Given the description of an element on the screen output the (x, y) to click on. 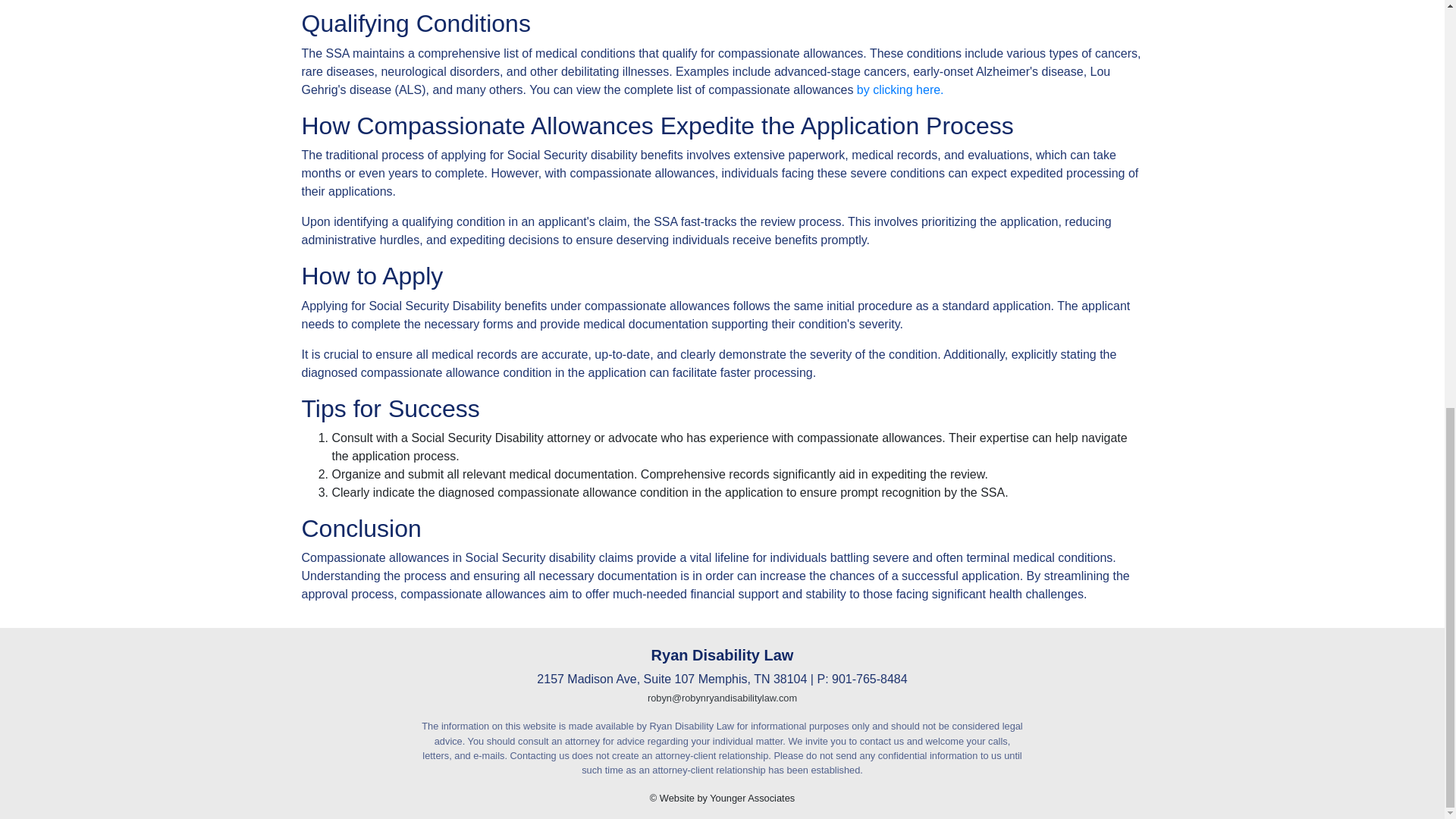
by clicking here. (900, 89)
